Given the description of an element on the screen output the (x, y) to click on. 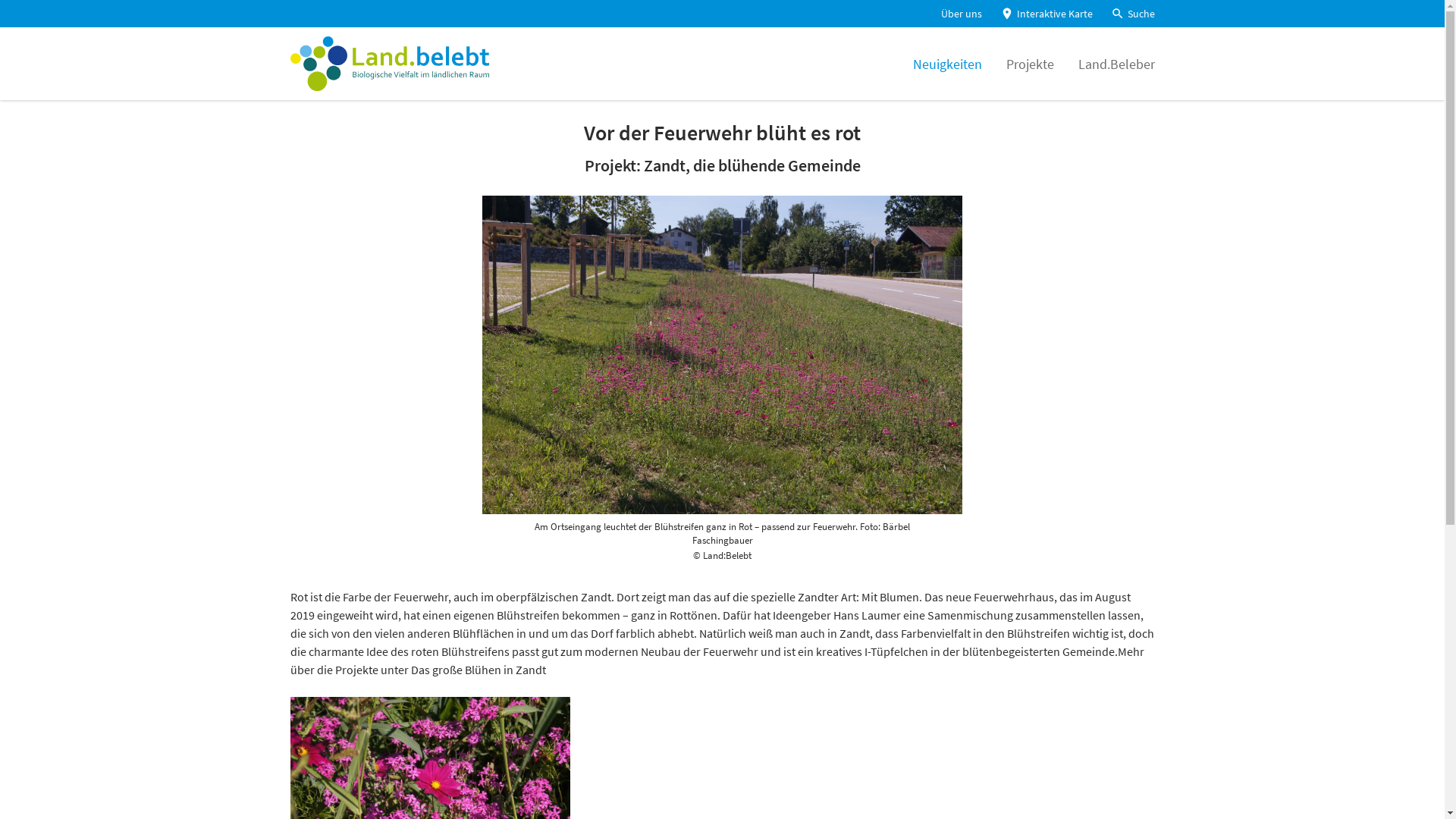
Projekte Element type: text (1029, 63)
Land.Beleber Element type: text (1116, 63)
Neuigkeiten Element type: text (947, 63)
Suche Element type: text (1132, 13)
Interaktive Karte Element type: text (1045, 13)
0 Element type: text (19, 30)
